Given the description of an element on the screen output the (x, y) to click on. 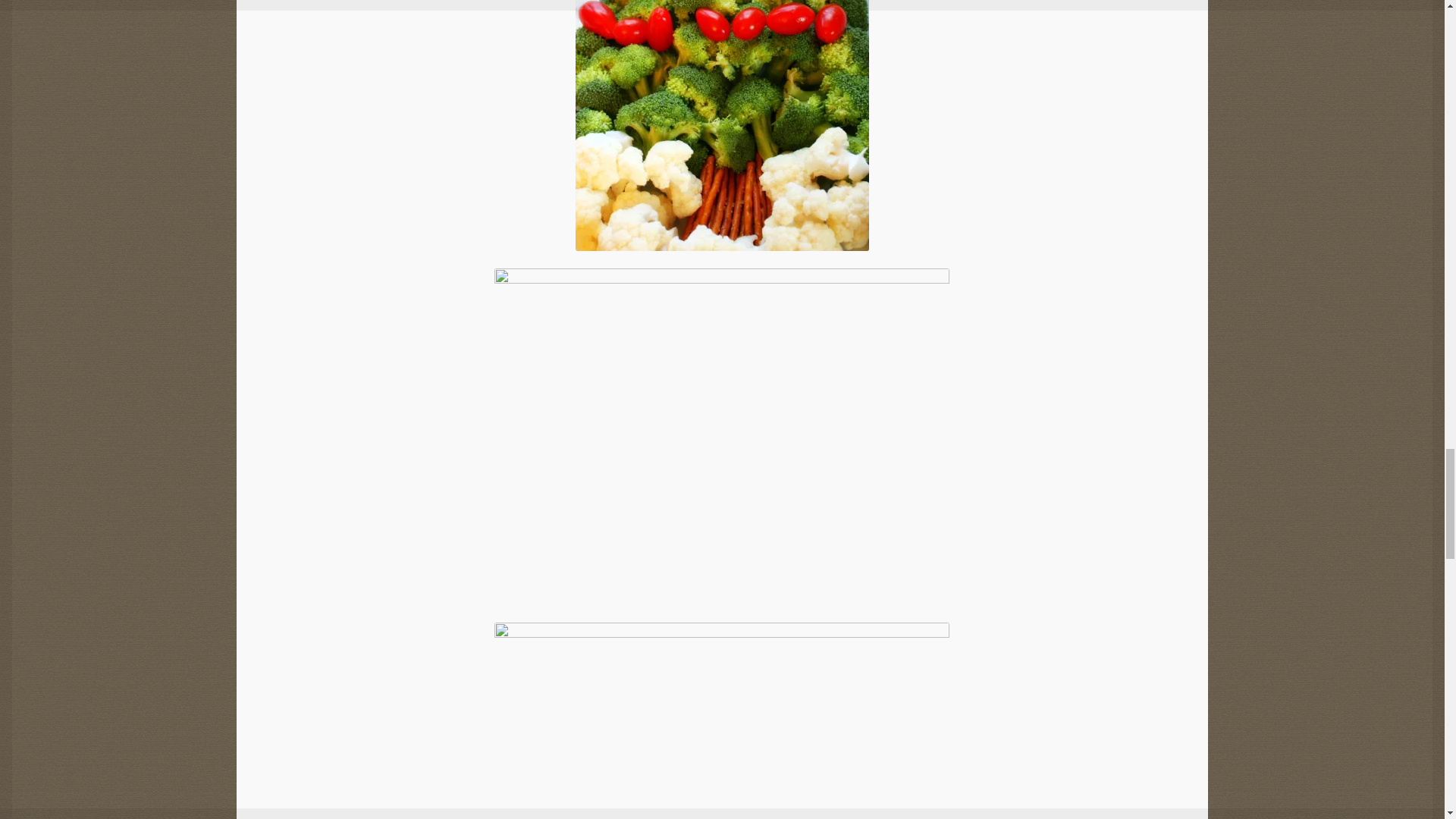
christmas-tree-veggie-tray (722, 125)
cheeseball-present (722, 720)
